Given the description of an element on the screen output the (x, y) to click on. 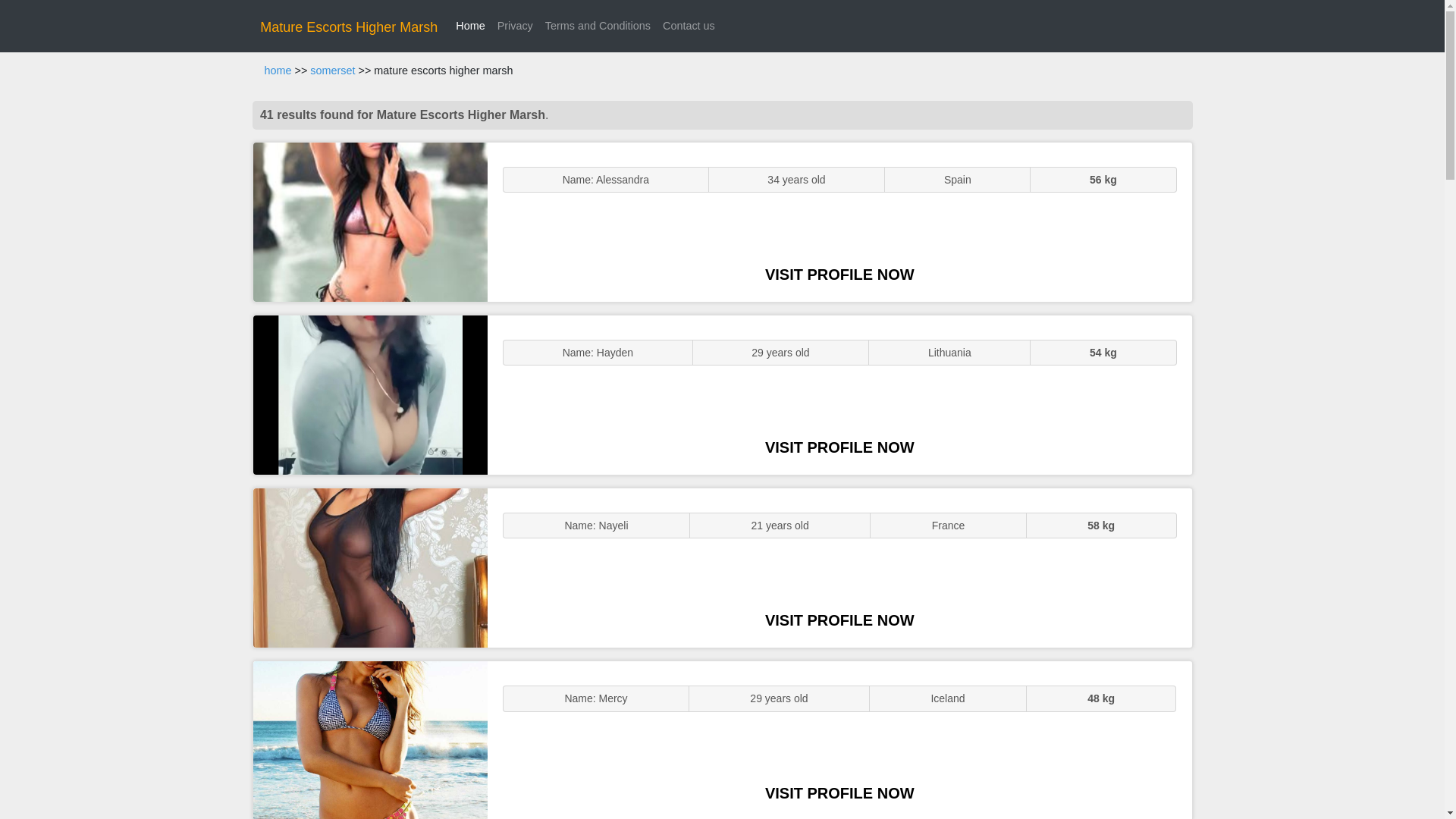
VISIT PROFILE NOW (839, 619)
home (277, 70)
Mature Escorts Higher Marsh (349, 27)
Sluts (370, 739)
Privacy (515, 25)
GFE (370, 395)
somerset (332, 70)
VISIT PROFILE NOW (839, 792)
Sexy (370, 567)
Terms and Conditions (597, 25)
 ENGLISH STUNNER (370, 222)
Contact us (688, 25)
VISIT PROFILE NOW (839, 446)
VISIT PROFILE NOW (839, 274)
